Given the description of an element on the screen output the (x, y) to click on. 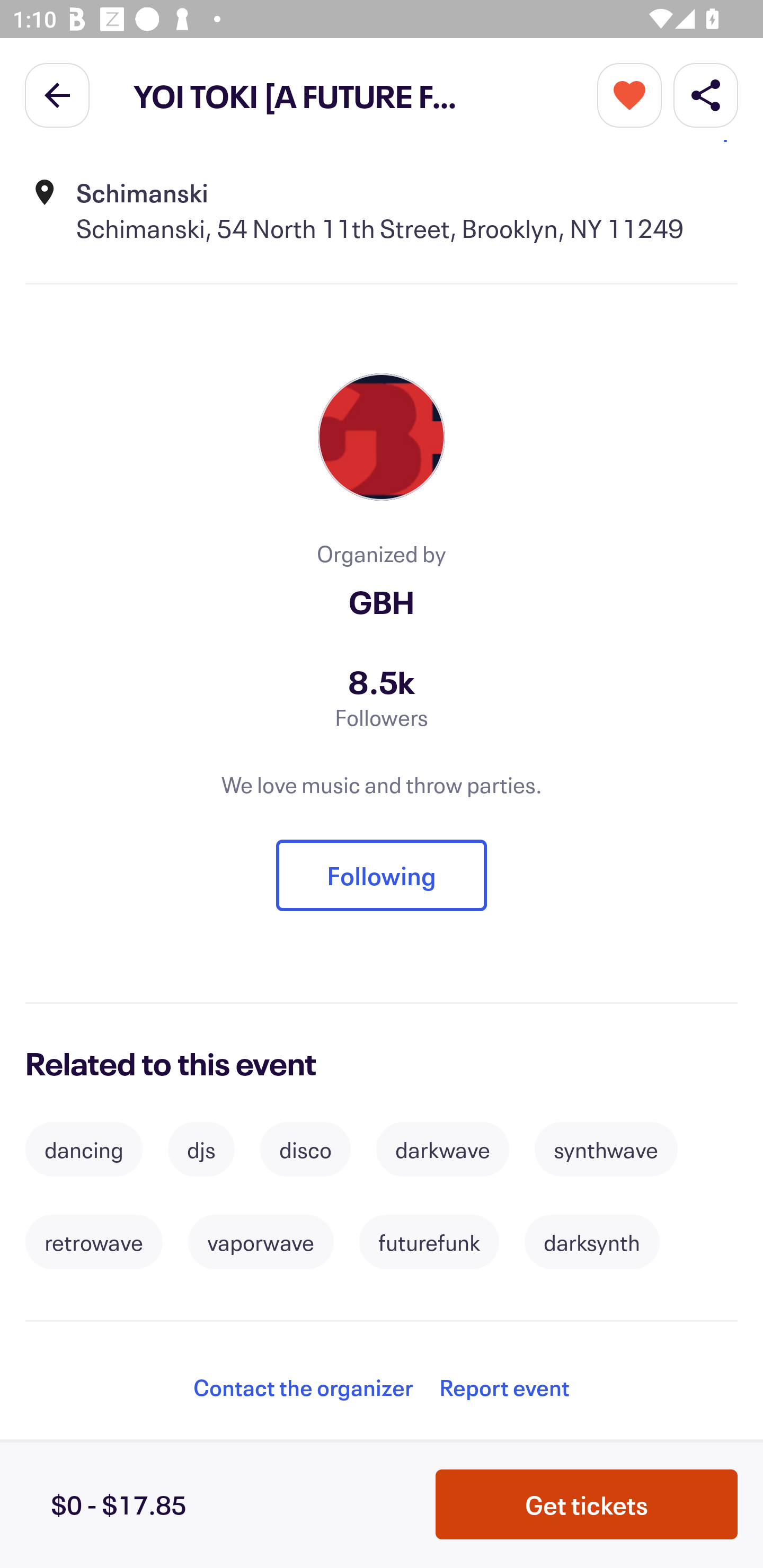
Back (57, 94)
More (629, 94)
Share (705, 94)
Organizer profile picture (381, 436)
GBH (381, 600)
Following (381, 875)
dancing (83, 1148)
djs (201, 1148)
disco (305, 1148)
darkwave (442, 1148)
synthwave (605, 1148)
retrowave (93, 1242)
vaporwave (261, 1242)
futurefunk (429, 1242)
darksynth (591, 1242)
Contact the organizer (303, 1386)
Report event (504, 1386)
Get tickets (586, 1504)
